Given the description of an element on the screen output the (x, y) to click on. 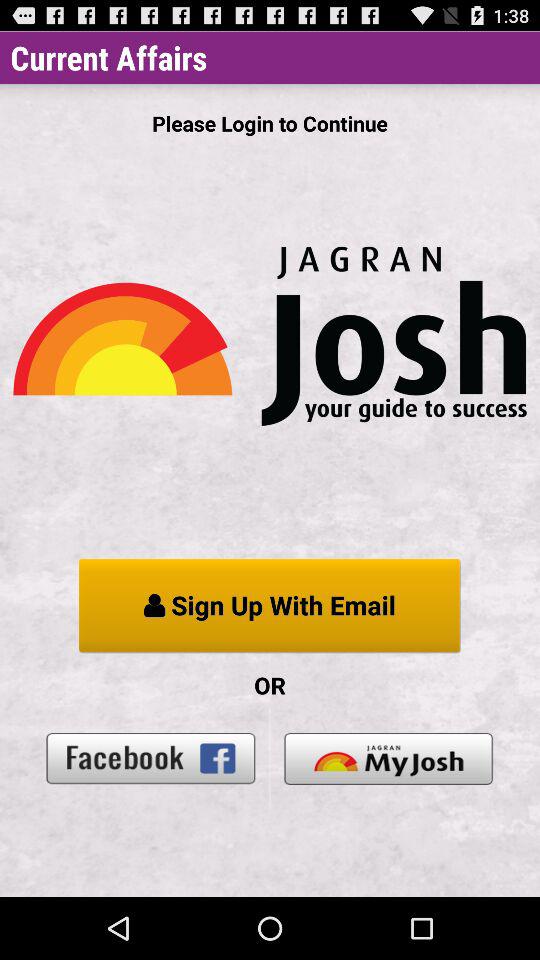
turn off the app above or item (269, 605)
